Given the description of an element on the screen output the (x, y) to click on. 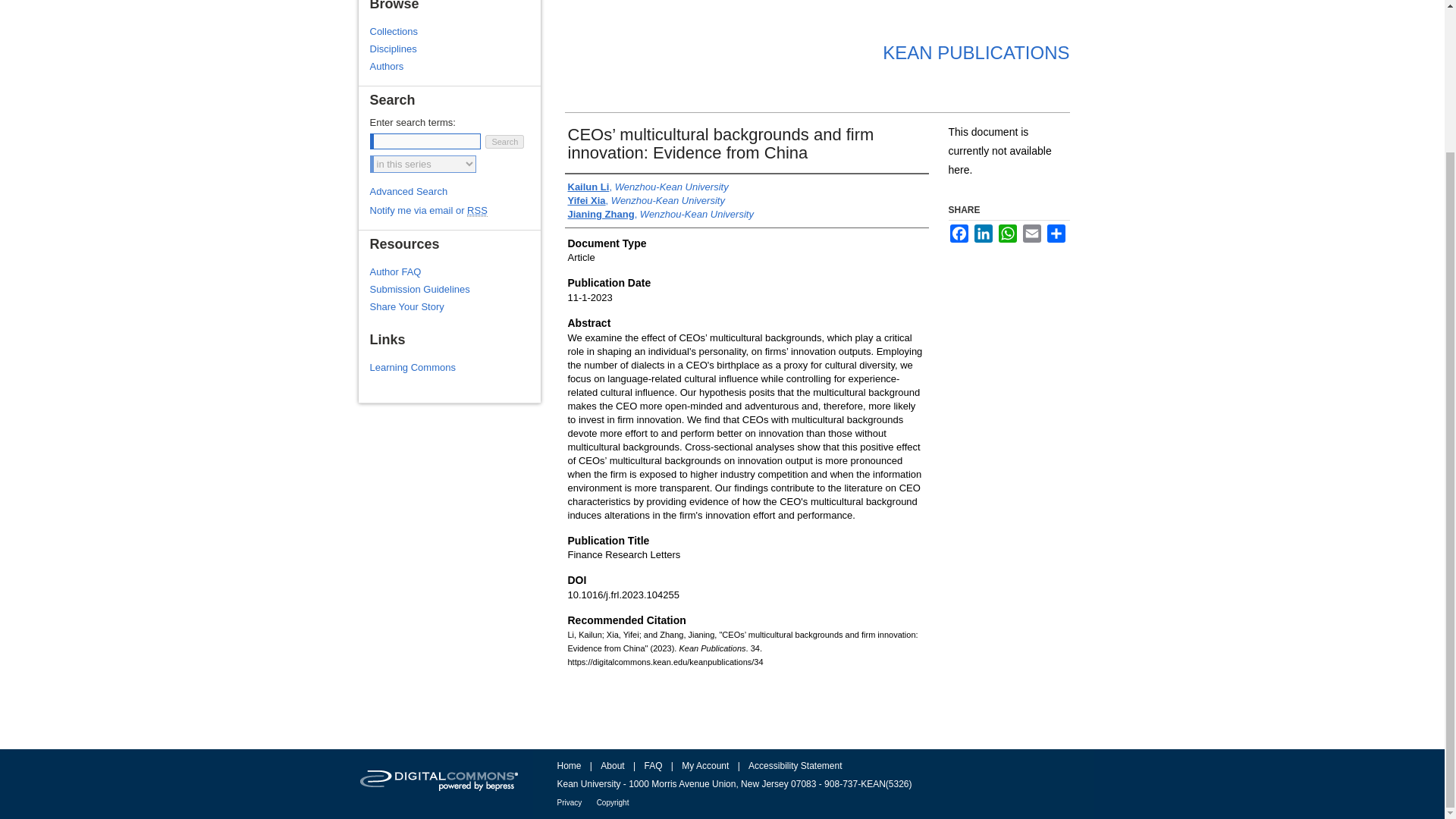
WhatsApp (1006, 233)
Search (504, 141)
Advanced Search (408, 191)
Email (1031, 233)
Notify me via email or RSS (454, 210)
Collections (454, 30)
Facebook (958, 233)
Submission Guidelines (454, 288)
Disciplines (454, 48)
Kailun Li, Wenzhou-Kean University (647, 187)
About (611, 765)
Authors (454, 66)
Author FAQ (454, 271)
Author FAQ (454, 271)
Jianing Zhang, Wenzhou-Kean University (659, 214)
